Given the description of an element on the screen output the (x, y) to click on. 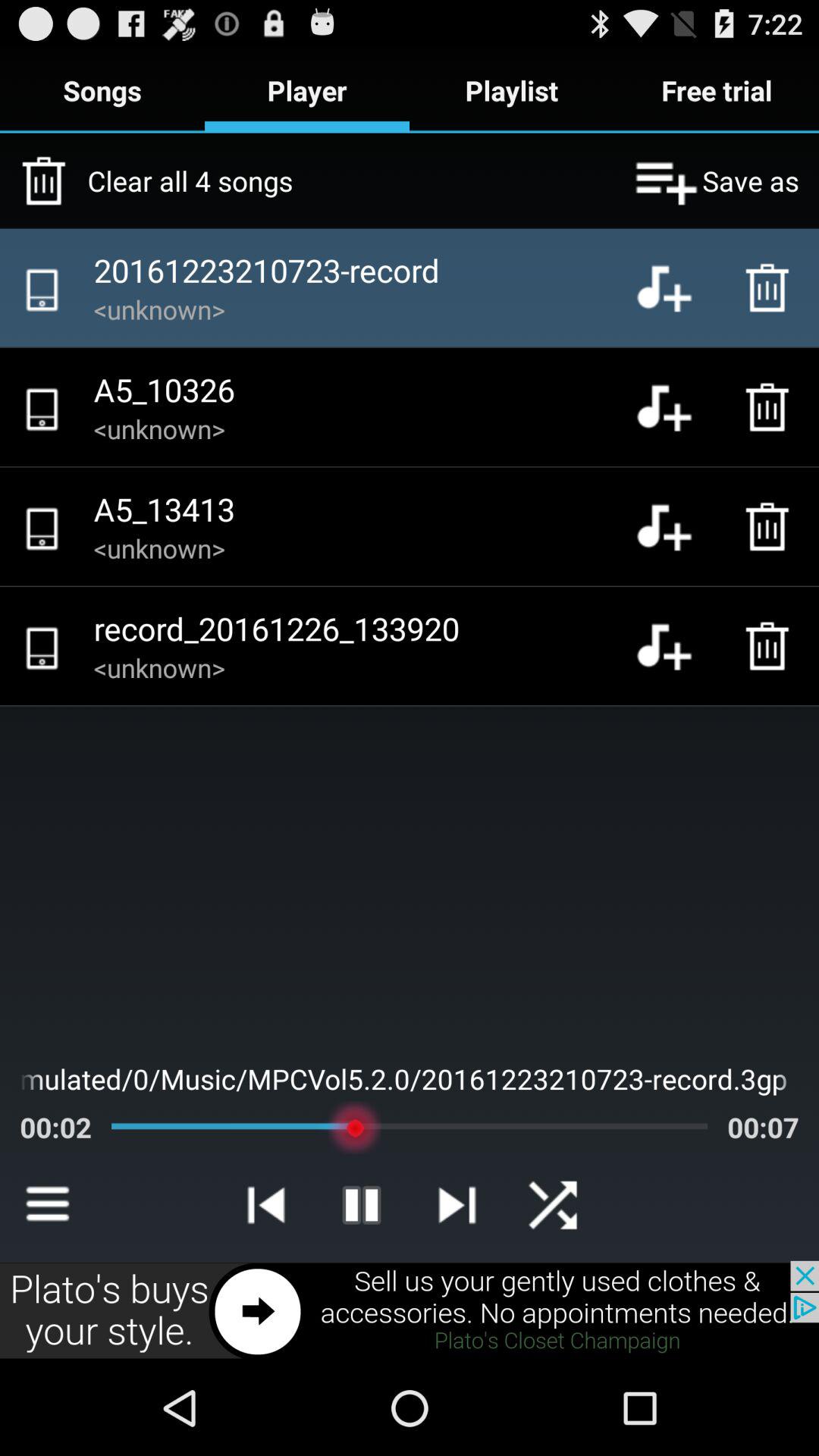
add song option (675, 526)
